Given the description of an element on the screen output the (x, y) to click on. 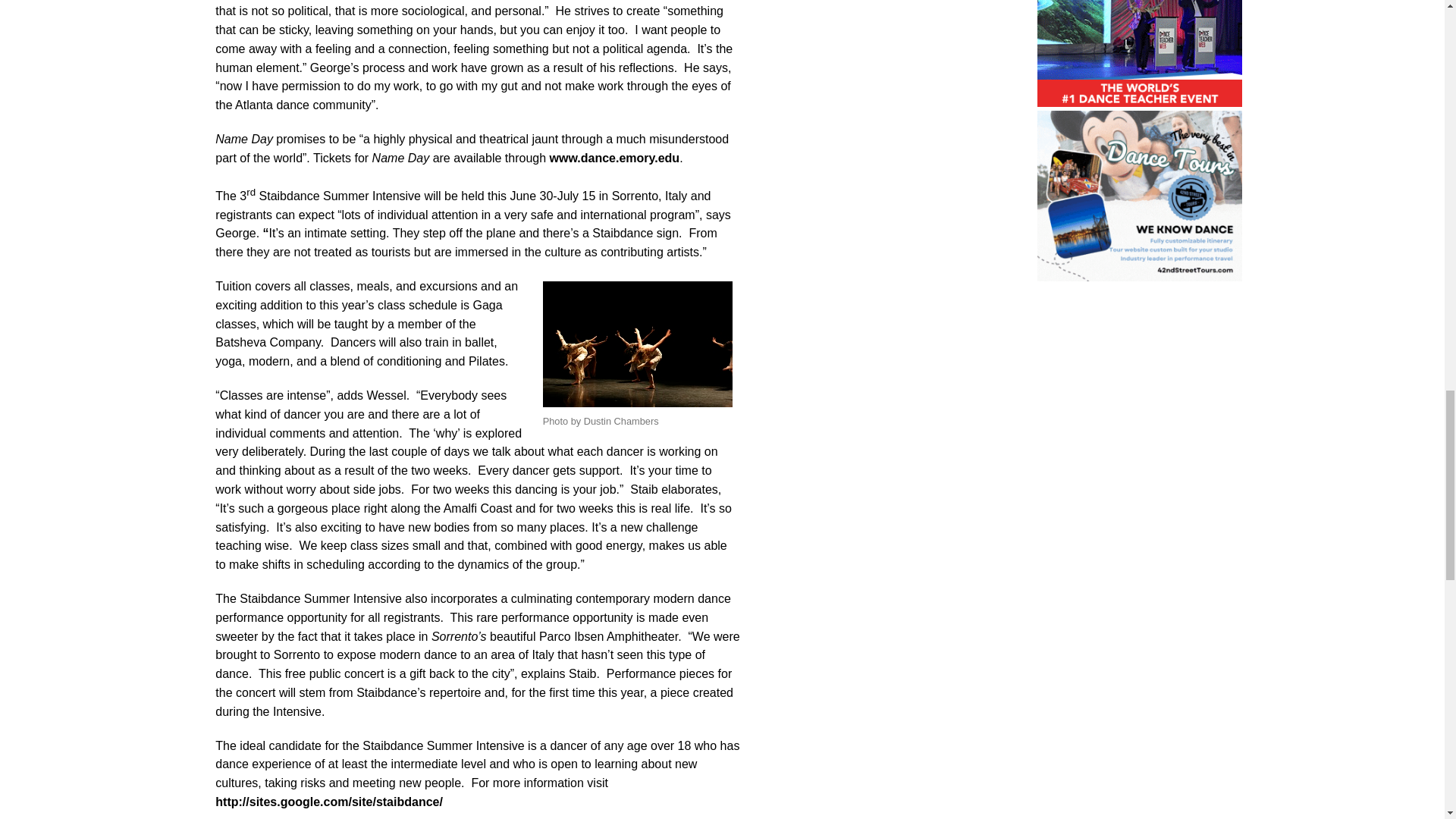
Staidance (637, 344)
